Given the description of an element on the screen output the (x, y) to click on. 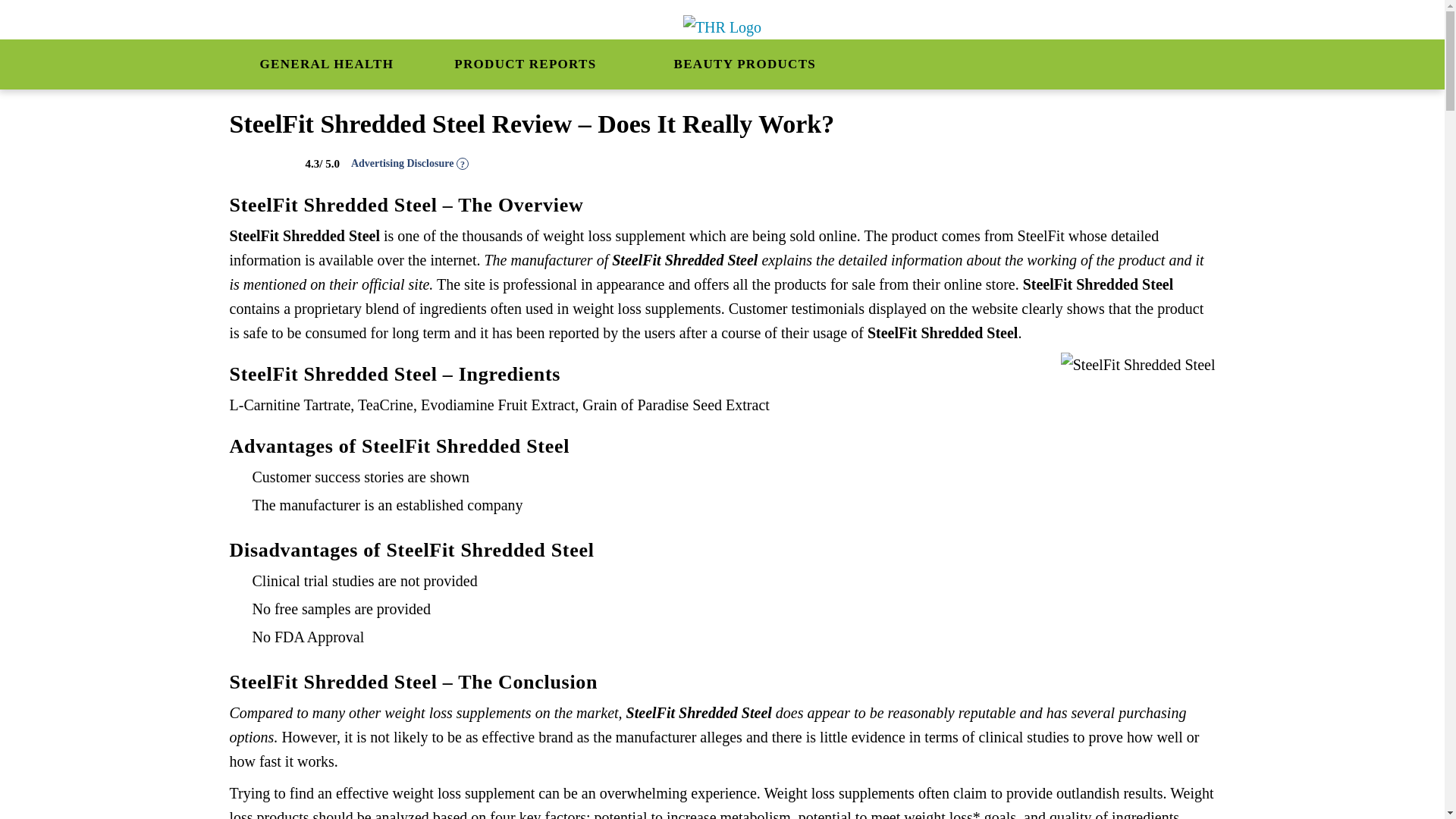
BEAUTY PRODUCTS (753, 64)
GENERAL HEALTH (325, 64)
Advertising Disclosure ? (409, 163)
PRODUCT REPORTS (533, 64)
